Given the description of an element on the screen output the (x, y) to click on. 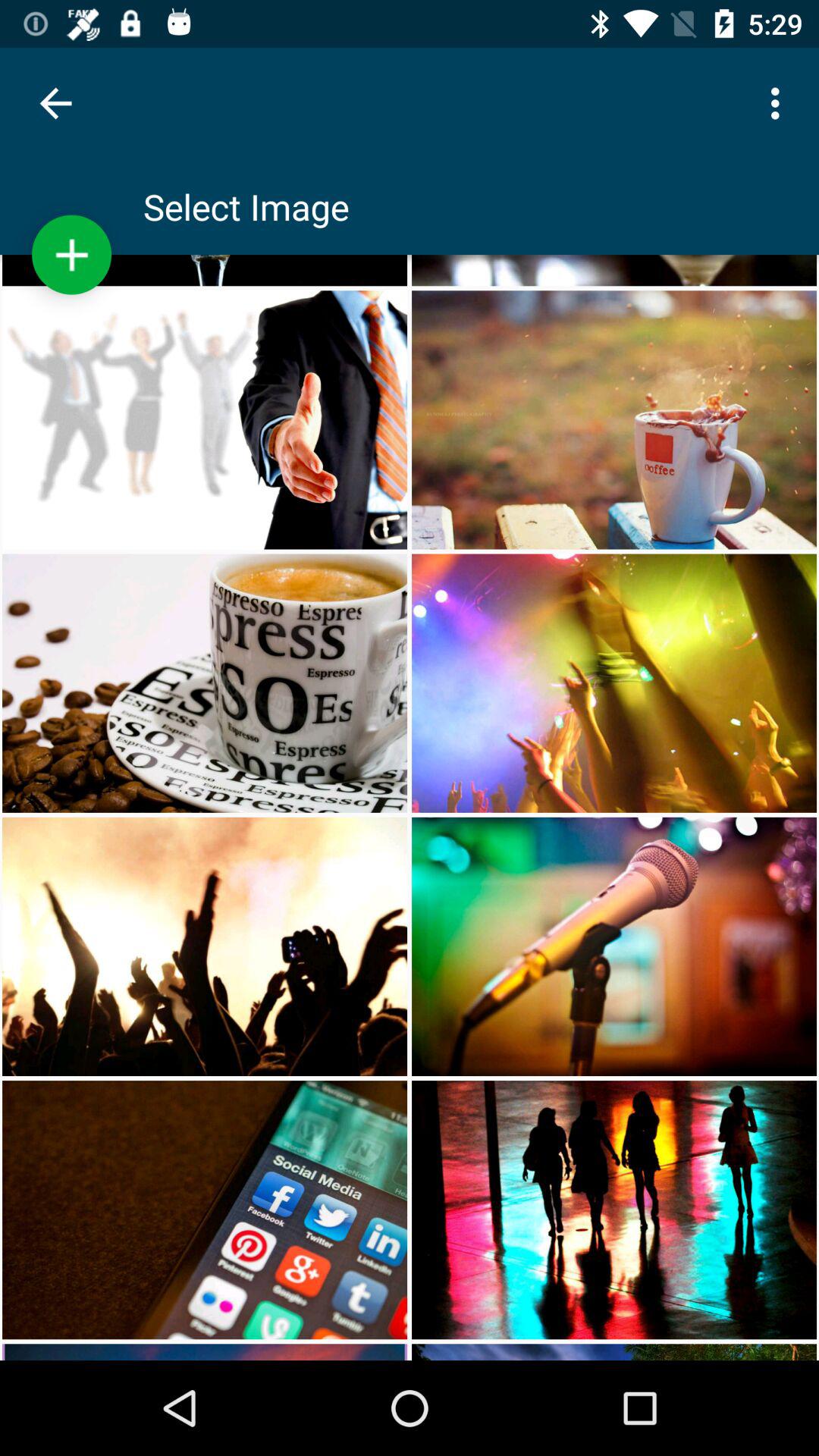
select icon to the left of the select image icon (71, 254)
